Given the description of an element on the screen output the (x, y) to click on. 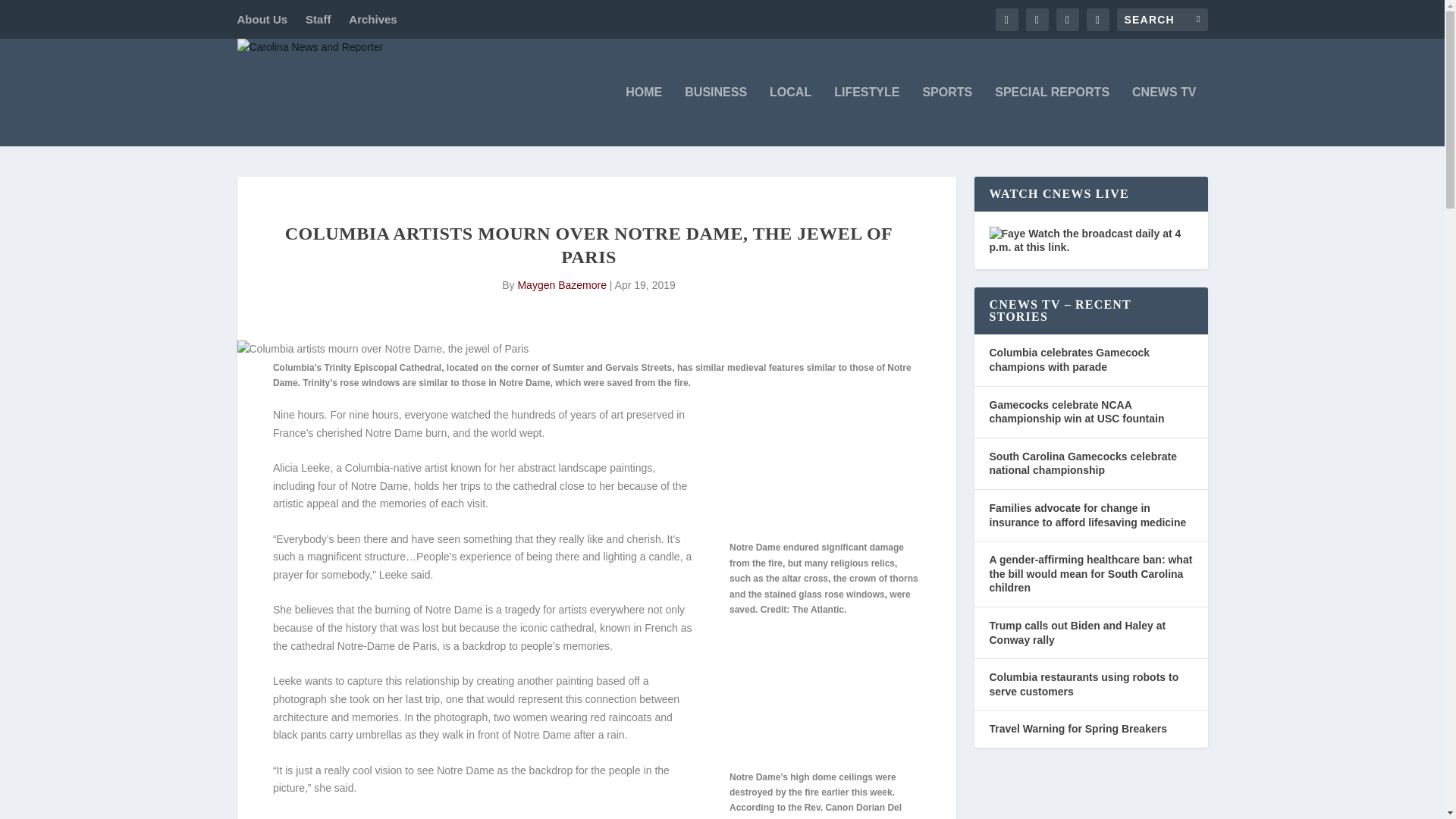
CNEWS TV (1163, 116)
BUSINESS (715, 116)
Search for: (1161, 18)
About Us (260, 19)
Columbia celebrates Gamecock champions with parade (1069, 359)
Archives (372, 19)
Maygen Bazemore (561, 285)
Watch the broadcast daily at 4 p.m. at this link. (1084, 240)
LIFESTYLE (866, 116)
SPECIAL REPORTS (1051, 116)
Posts by Maygen Bazemore (561, 285)
